Given the description of an element on the screen output the (x, y) to click on. 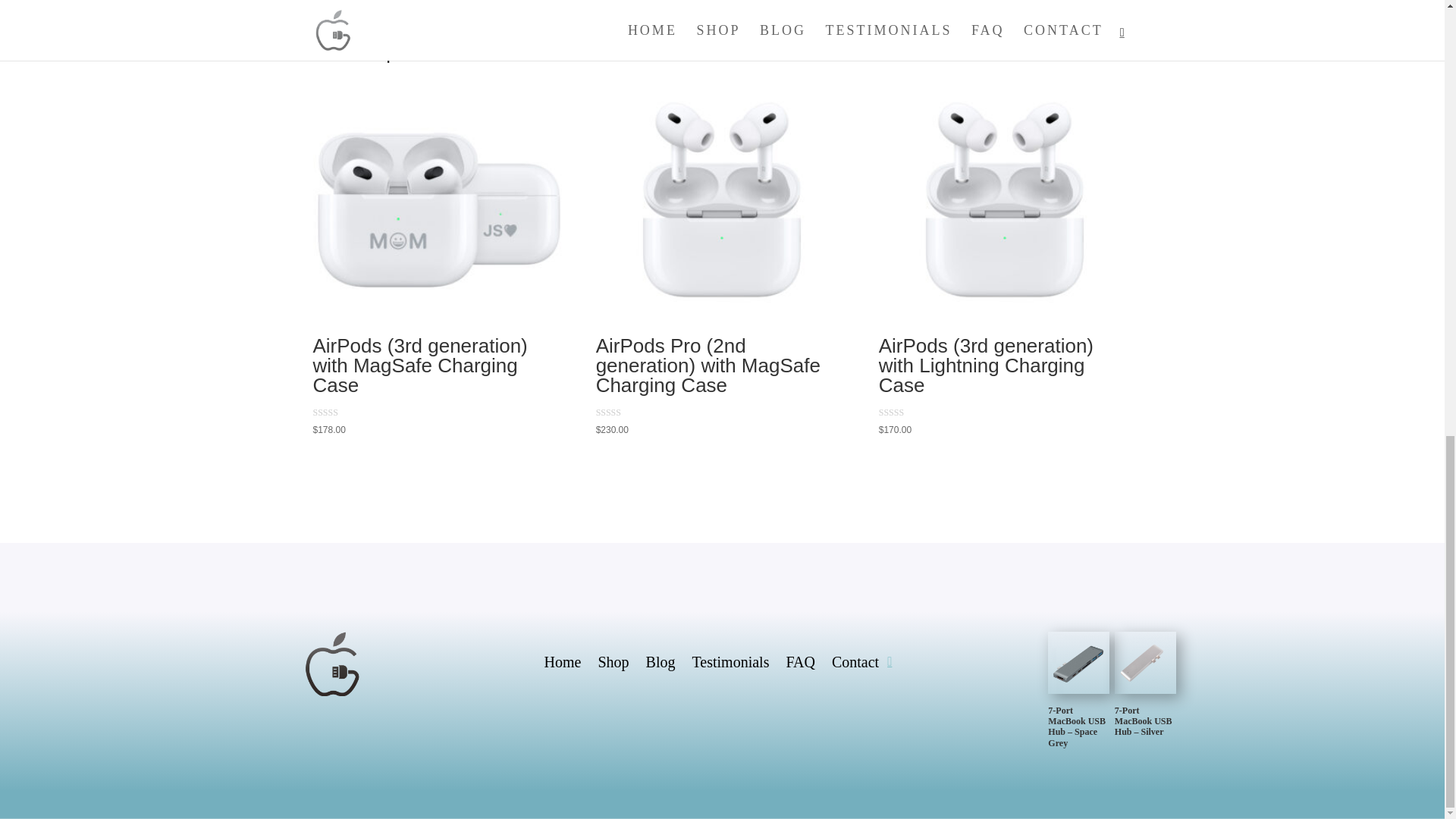
Home (562, 664)
Shop (612, 664)
